Given the description of an element on the screen output the (x, y) to click on. 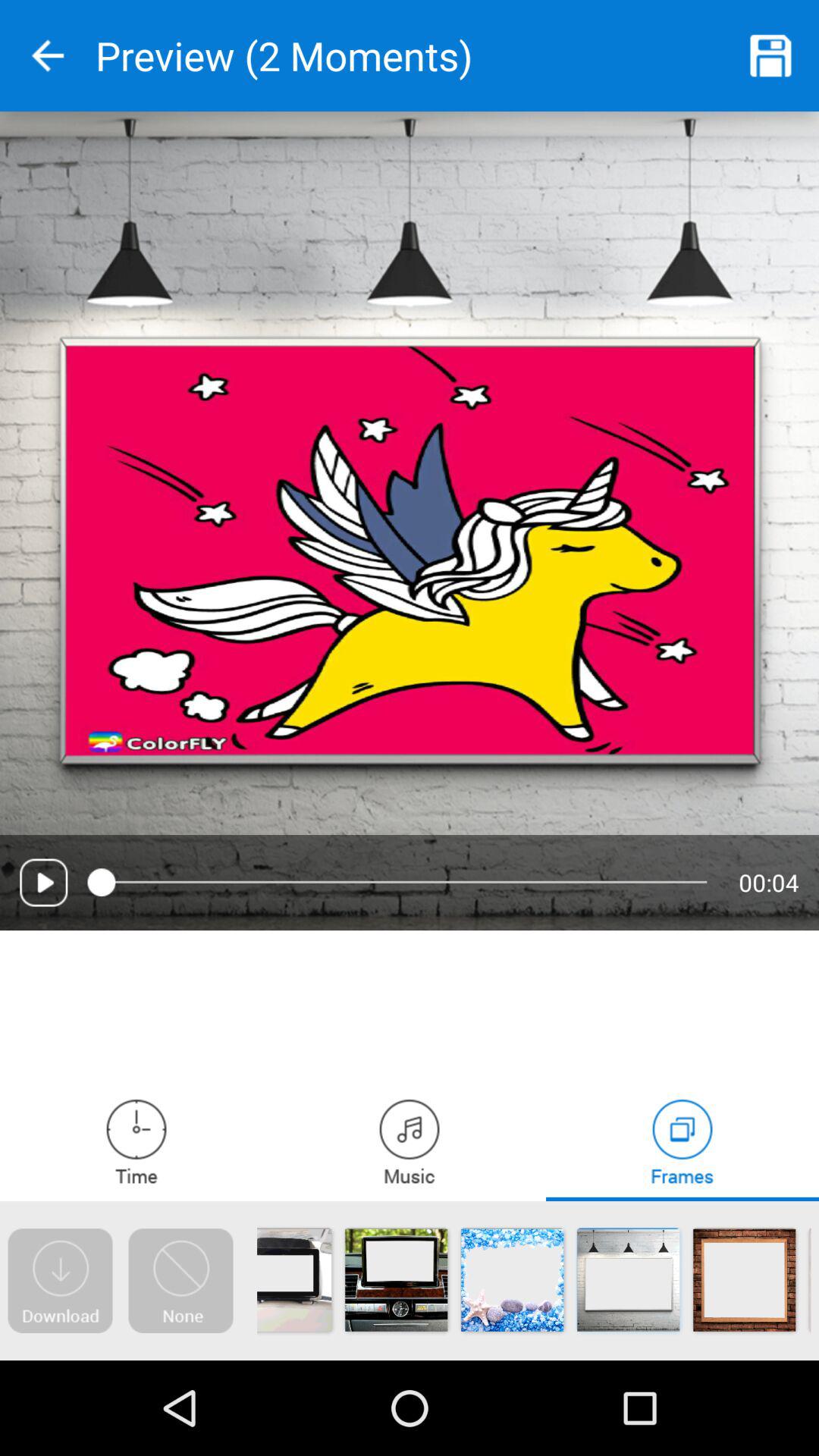
download the video (59, 1280)
